Given the description of an element on the screen output the (x, y) to click on. 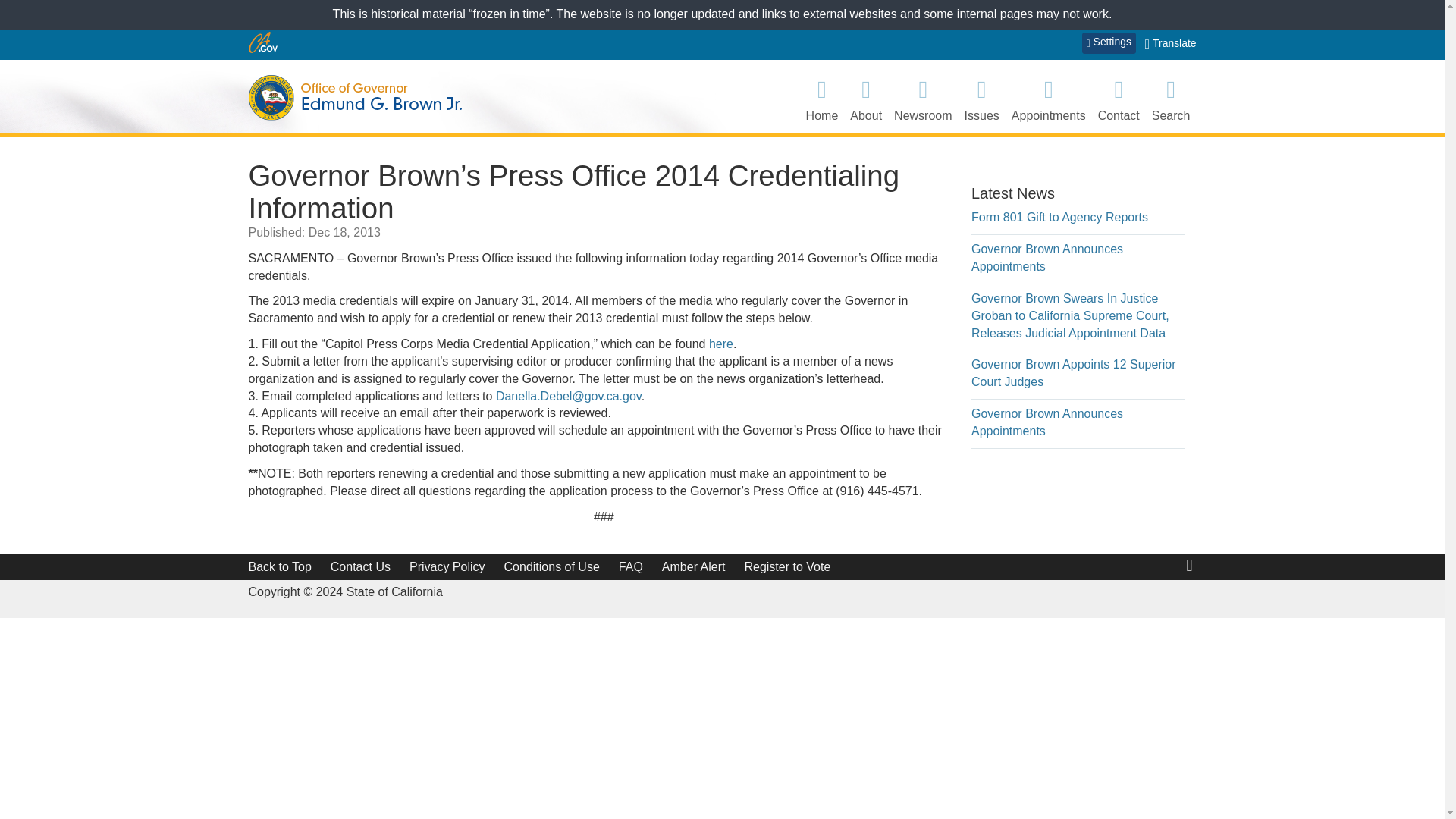
here (721, 343)
Form 801 Gift to Agency Reports (1059, 216)
Settings (1108, 43)
Appointments (1048, 98)
Translate (1170, 44)
CA.gov (263, 43)
Governor Brown Announces Appointments (1046, 257)
